Given the description of an element on the screen output the (x, y) to click on. 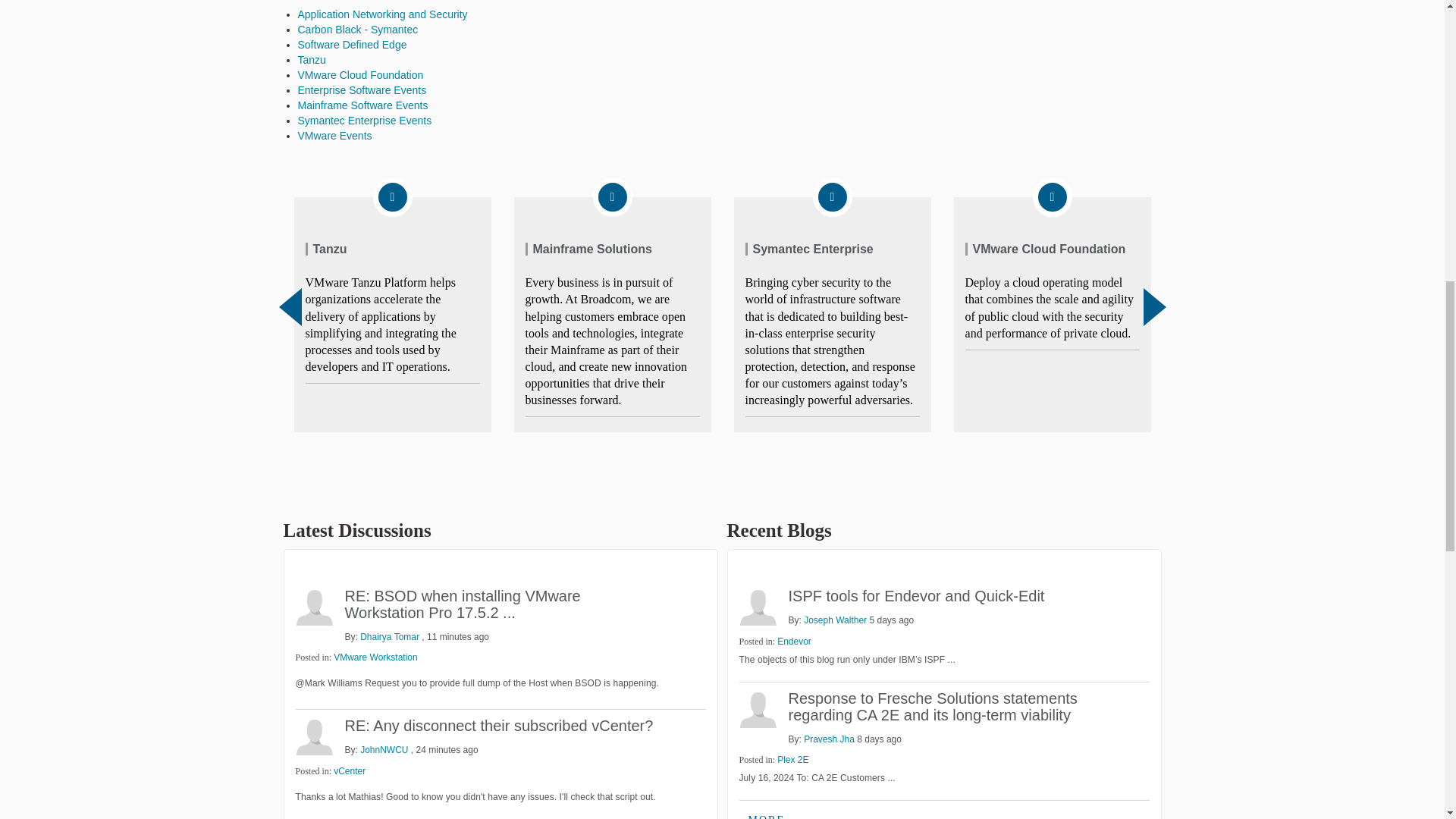
View All Blog Posts (765, 813)
Dhairya Tomar (314, 606)
ISPF tools for Endevor and Quick-Edit (917, 596)
vCenter (349, 770)
VMware Workstation (374, 656)
RE: Any disconnect their subscribed vCenter? (497, 725)
Pravesh Jha (757, 709)
JohnNWCU (314, 736)
Joseph Walther (757, 606)
